Given the description of an element on the screen output the (x, y) to click on. 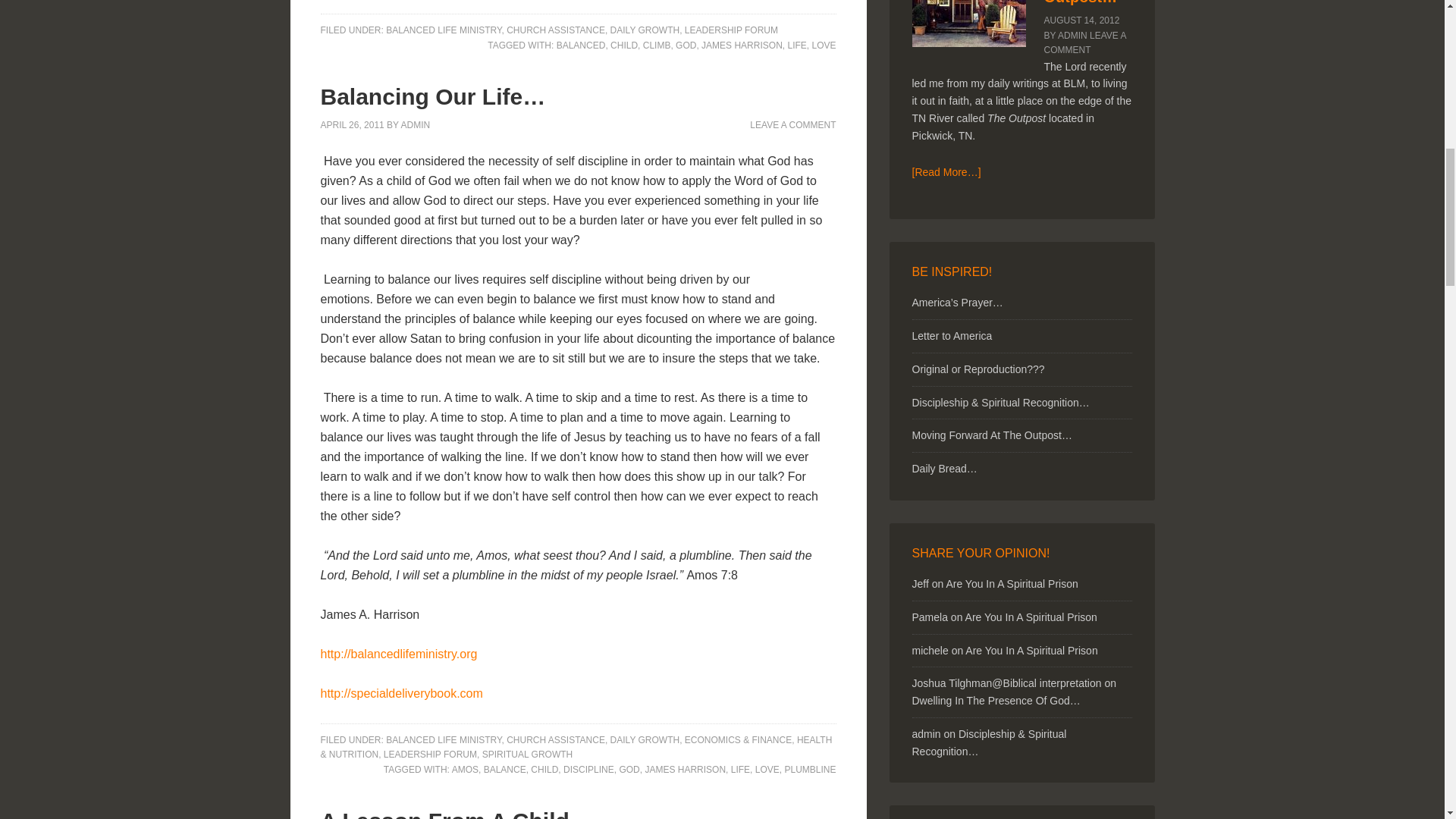
BALANCED LIFE MINISTRY (442, 30)
